Given the description of an element on the screen output the (x, y) to click on. 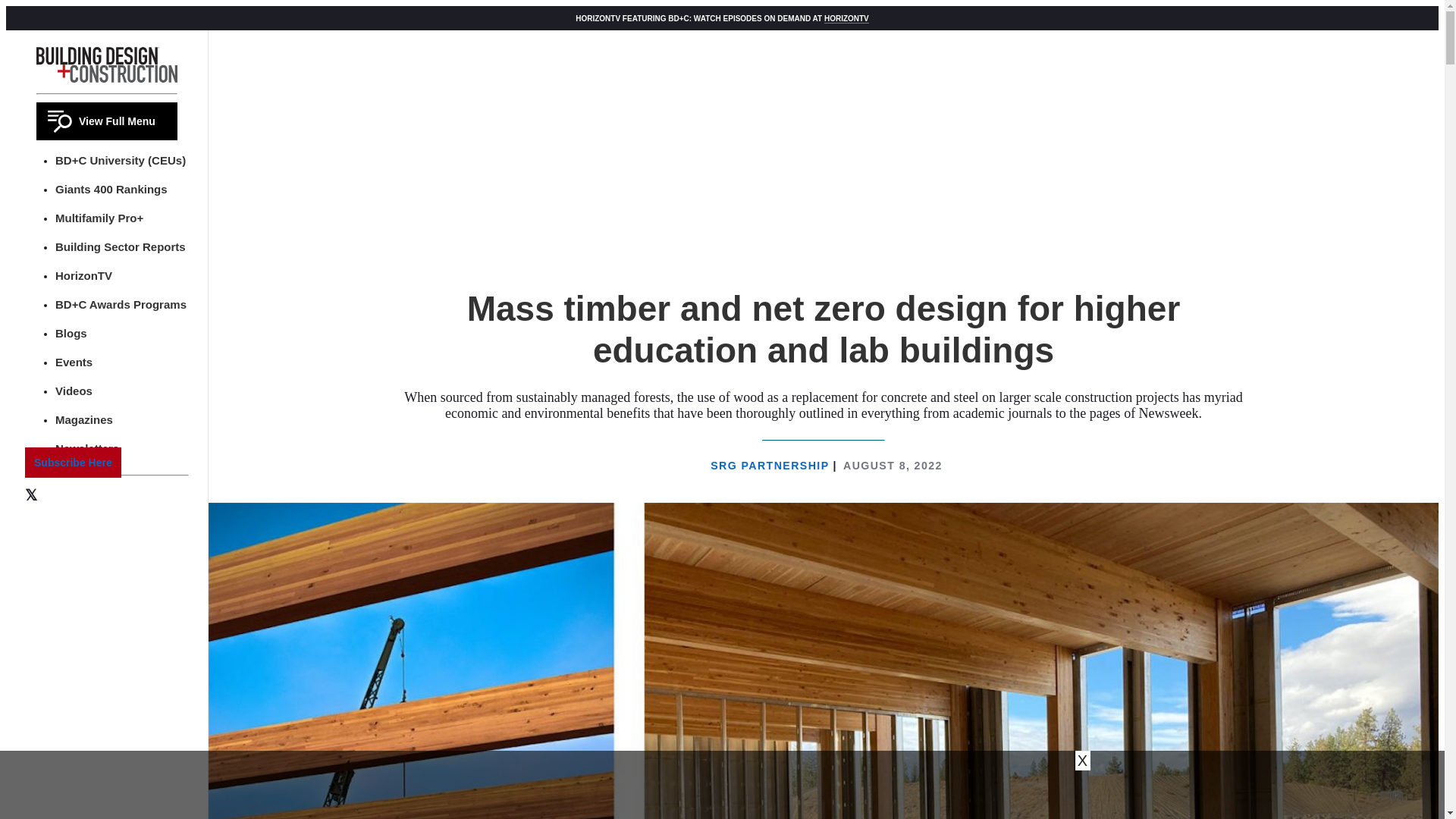
Events (74, 361)
SRG PARTNERSHIP (771, 465)
HorizonTV (83, 275)
Blogs (71, 332)
Giants 400 Rankings (111, 188)
Home (106, 64)
Newsletters (87, 448)
View Full Menu (106, 121)
HORIZONTV (846, 17)
Subscribe Here (72, 462)
Videos (74, 390)
3rd party ad content (721, 785)
Building Sector Reports (120, 246)
Magazines (84, 419)
